Given the description of an element on the screen output the (x, y) to click on. 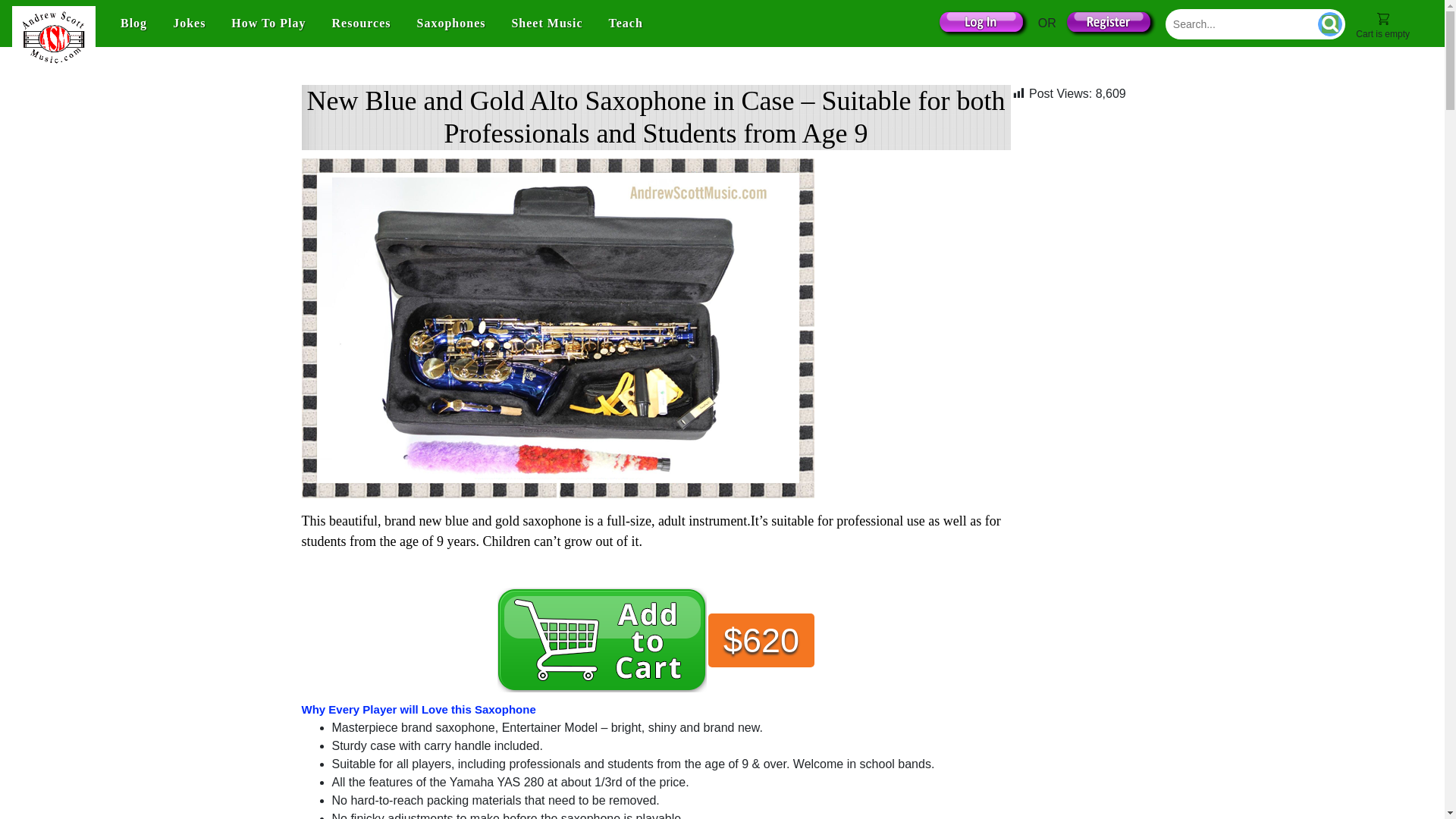
Resources (361, 23)
How To Play (268, 23)
Sheet Music (546, 23)
Teach (625, 23)
Blog (133, 23)
Jokes (188, 23)
Teach (625, 23)
Saxophones (451, 23)
Saxophones (451, 23)
How To Play (268, 23)
Jokes (188, 23)
Resources (361, 23)
Go (1329, 24)
Sheet Music (546, 23)
Blog (133, 23)
